Given the description of an element on the screen output the (x, y) to click on. 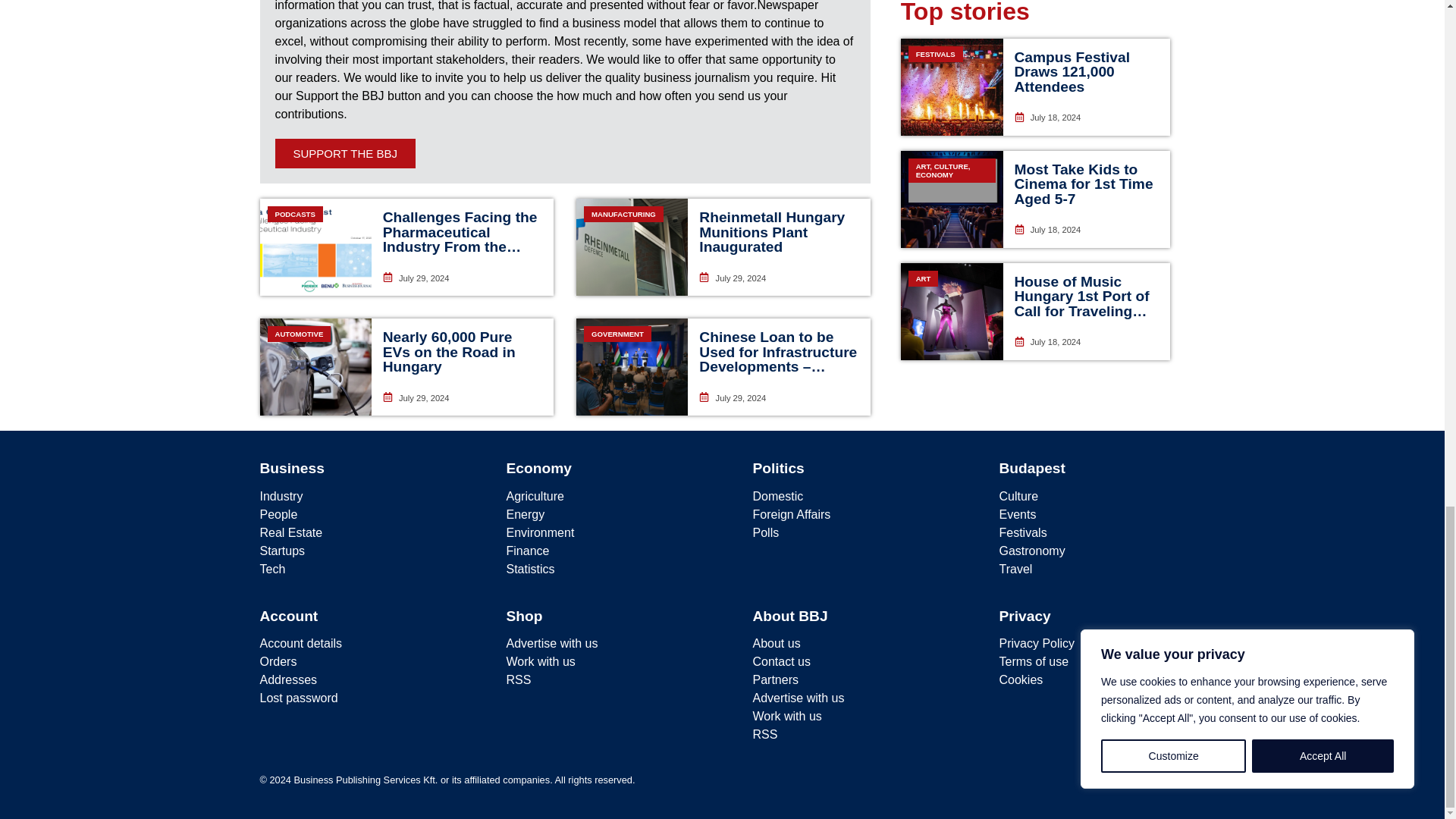
MANUFACTURING (631, 247)
Rheinmetall Hungary Munitions Plant Inaugurated (771, 231)
AUTOMOTIVE (315, 366)
PODCASTS (315, 247)
GOVERNMENT (631, 366)
Nearly 60,000 Pure EVs on the Road in Hungary (448, 351)
SUPPORT THE BBJ (344, 153)
